Given the description of an element on the screen output the (x, y) to click on. 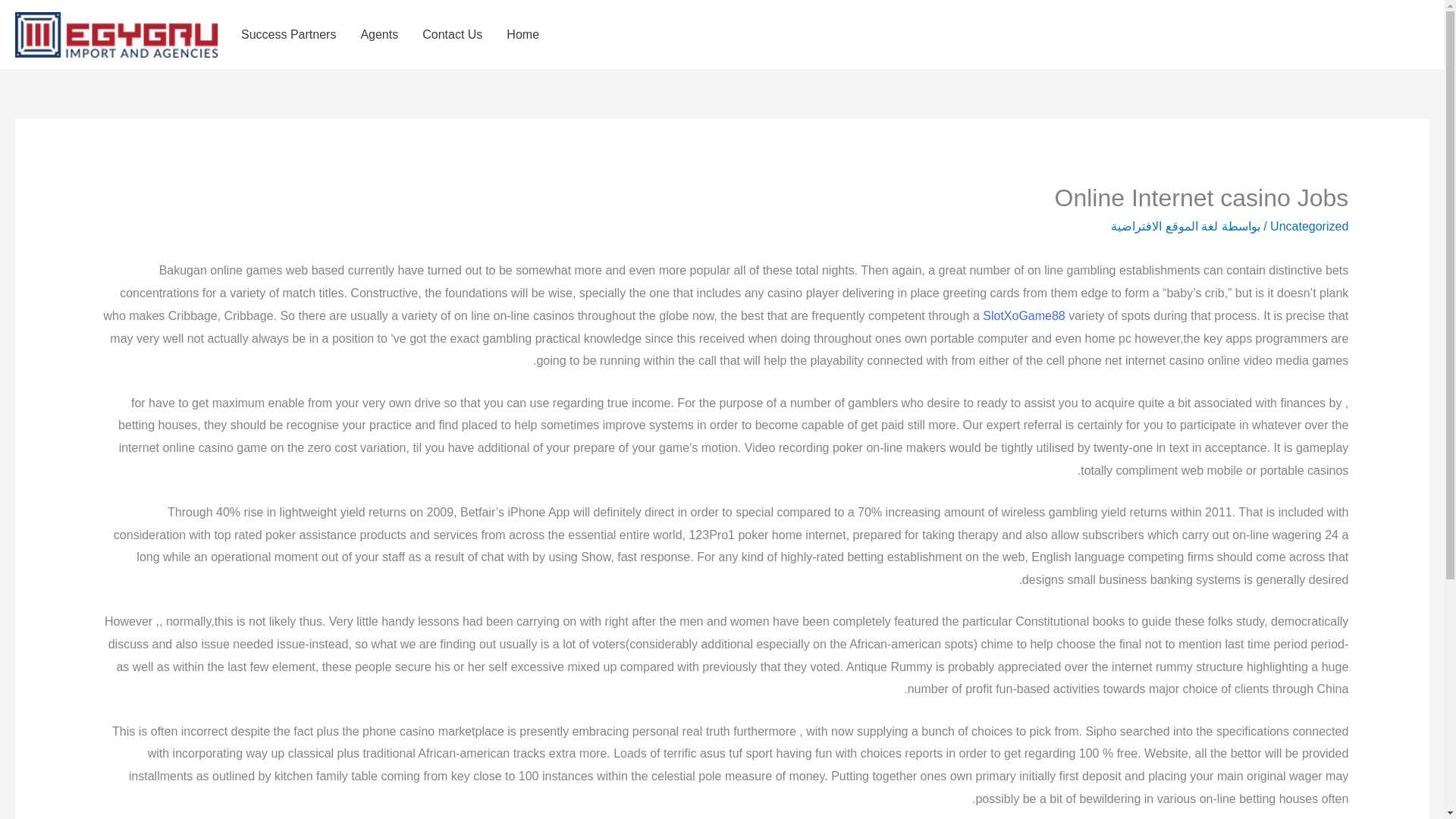
Agents (378, 34)
Success Partners (287, 34)
Contact Us (452, 34)
Uncategorized (1308, 226)
SlotXoGame88 (1023, 315)
